Given the description of an element on the screen output the (x, y) to click on. 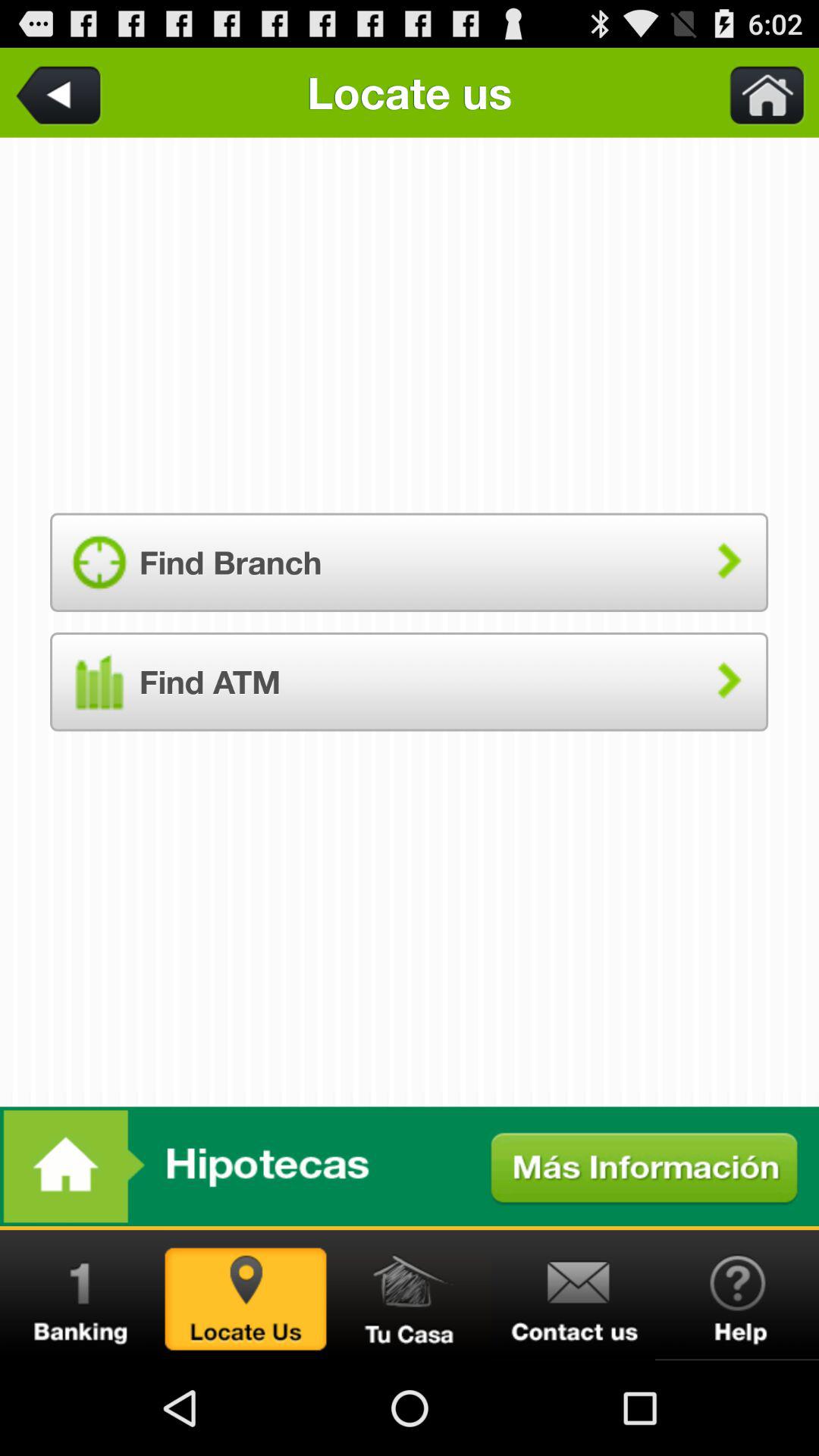
messages from bank (81, 1295)
